Given the description of an element on the screen output the (x, y) to click on. 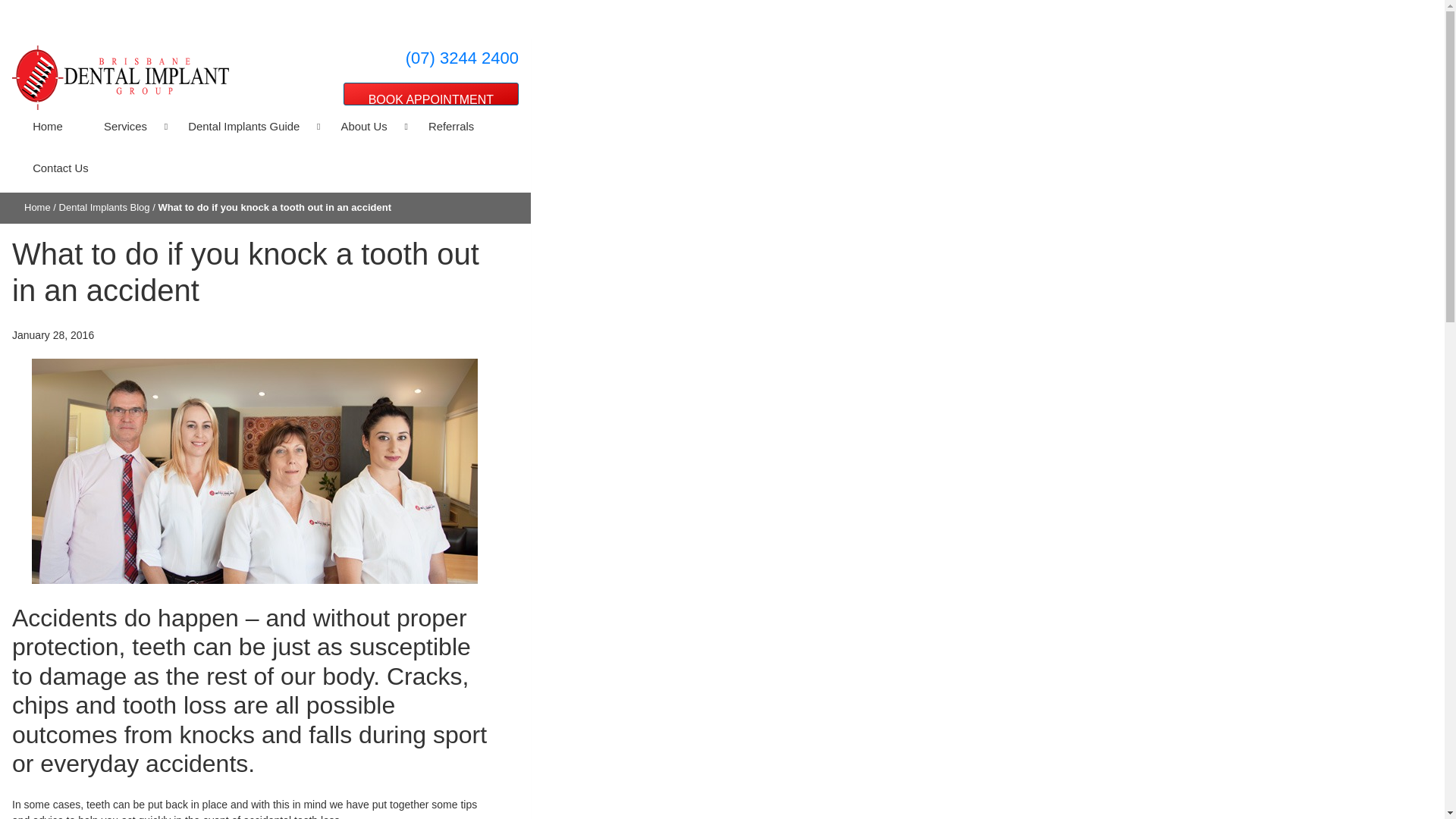
Dental Implants Guide (243, 126)
About Us (363, 126)
Contact Us (49, 168)
Referrals (451, 126)
Home (46, 126)
Services (124, 126)
Home (37, 206)
Dental Implants Blog (104, 206)
BOOK APPOINTMENT (430, 93)
Brisbane Dental Implant Group (119, 76)
